Given the description of an element on the screen output the (x, y) to click on. 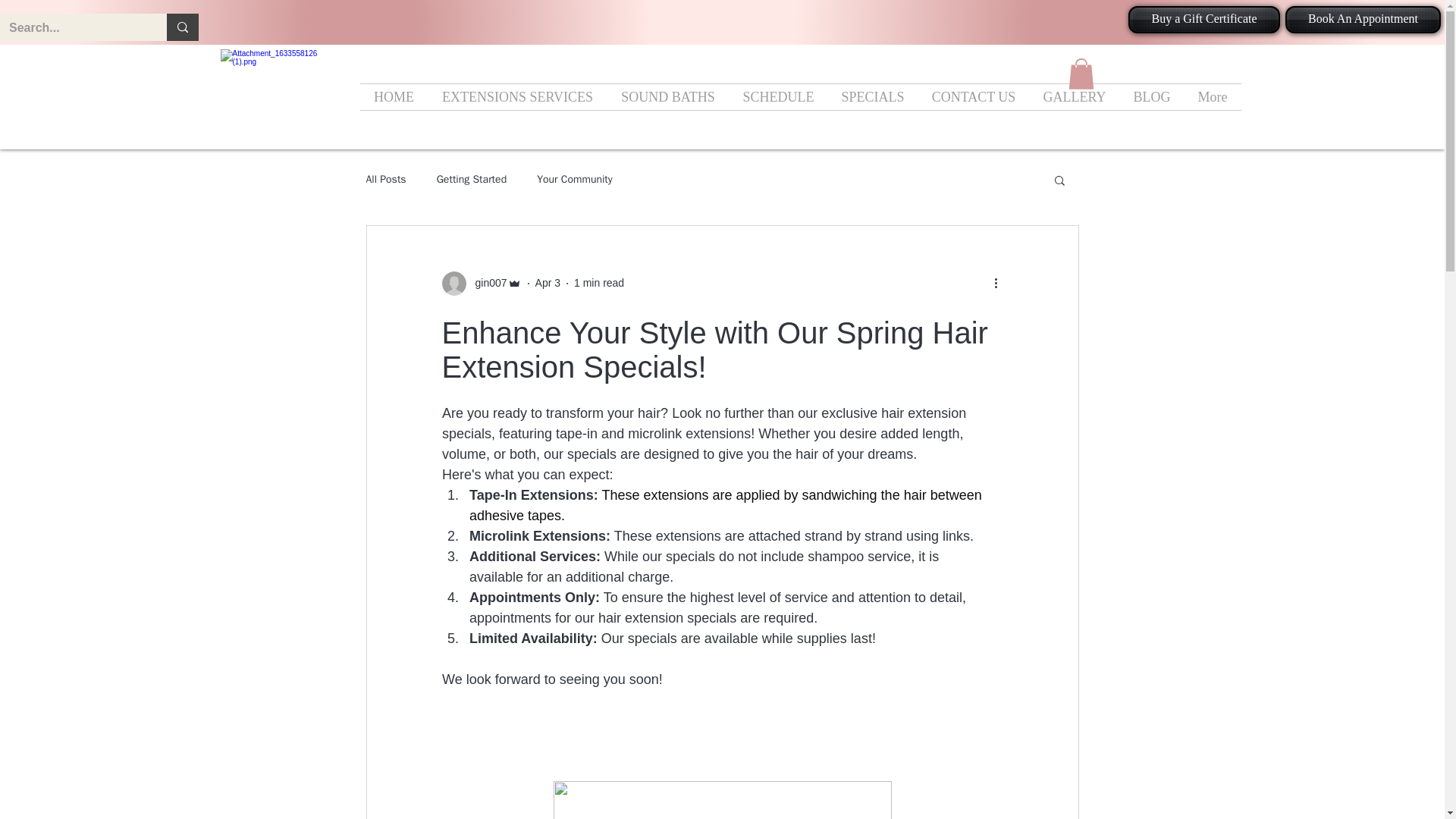
Apr 3 (547, 282)
SCHEDULE (778, 96)
Your Community (574, 179)
SPECIALS (873, 96)
SOUND BATHS (668, 96)
gin007 (481, 283)
CONTACT US (973, 96)
HOME (393, 96)
Book An Appointment (1363, 19)
Buy a Gift Certificate (1203, 19)
gin007 (485, 283)
EXTENSIONS SERVICES (517, 96)
Getting Started (471, 179)
GALLERY (1074, 96)
All Posts (385, 179)
